Given the description of an element on the screen output the (x, y) to click on. 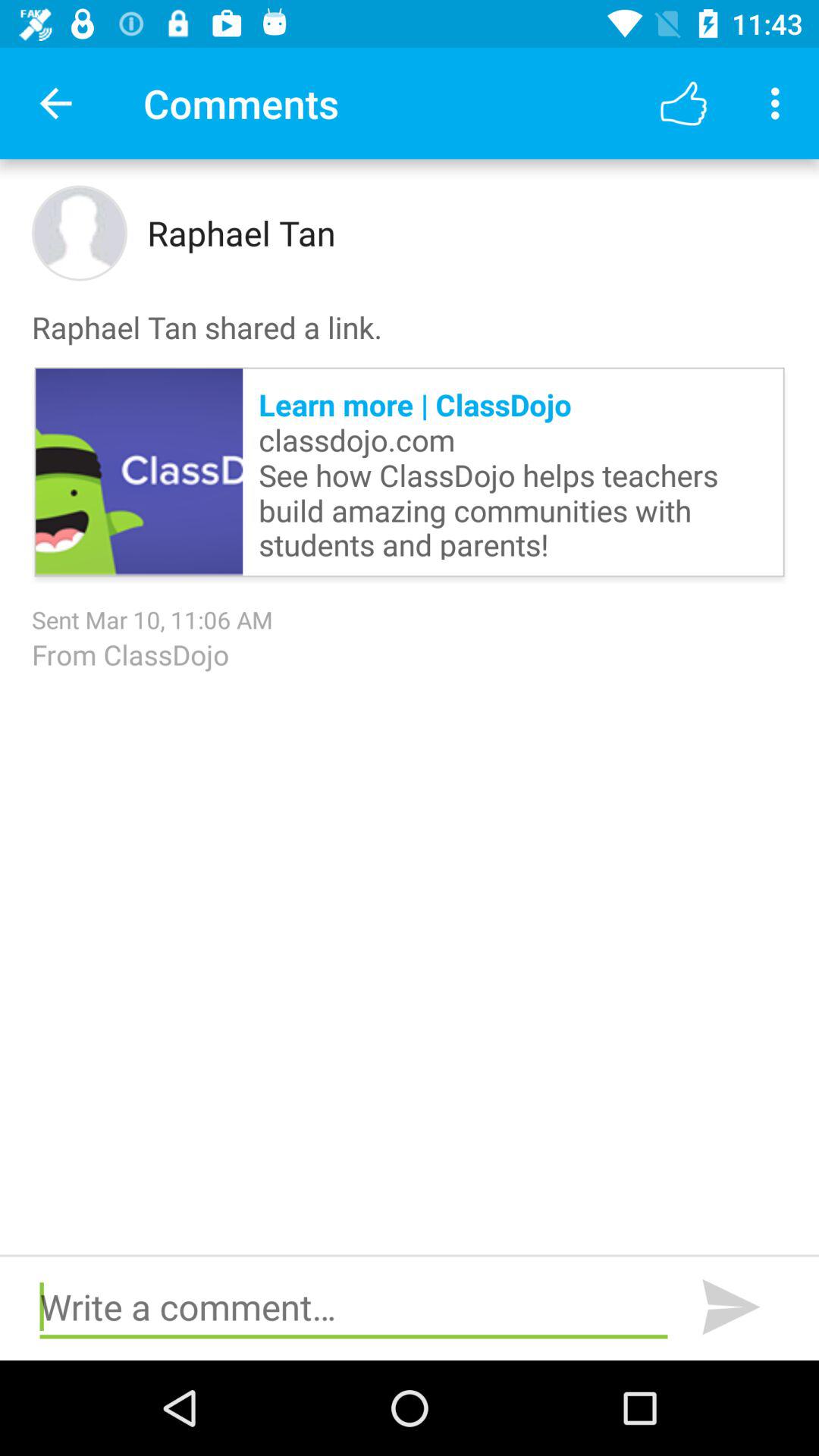
select the item next to the comments icon (55, 103)
